Given the description of an element on the screen output the (x, y) to click on. 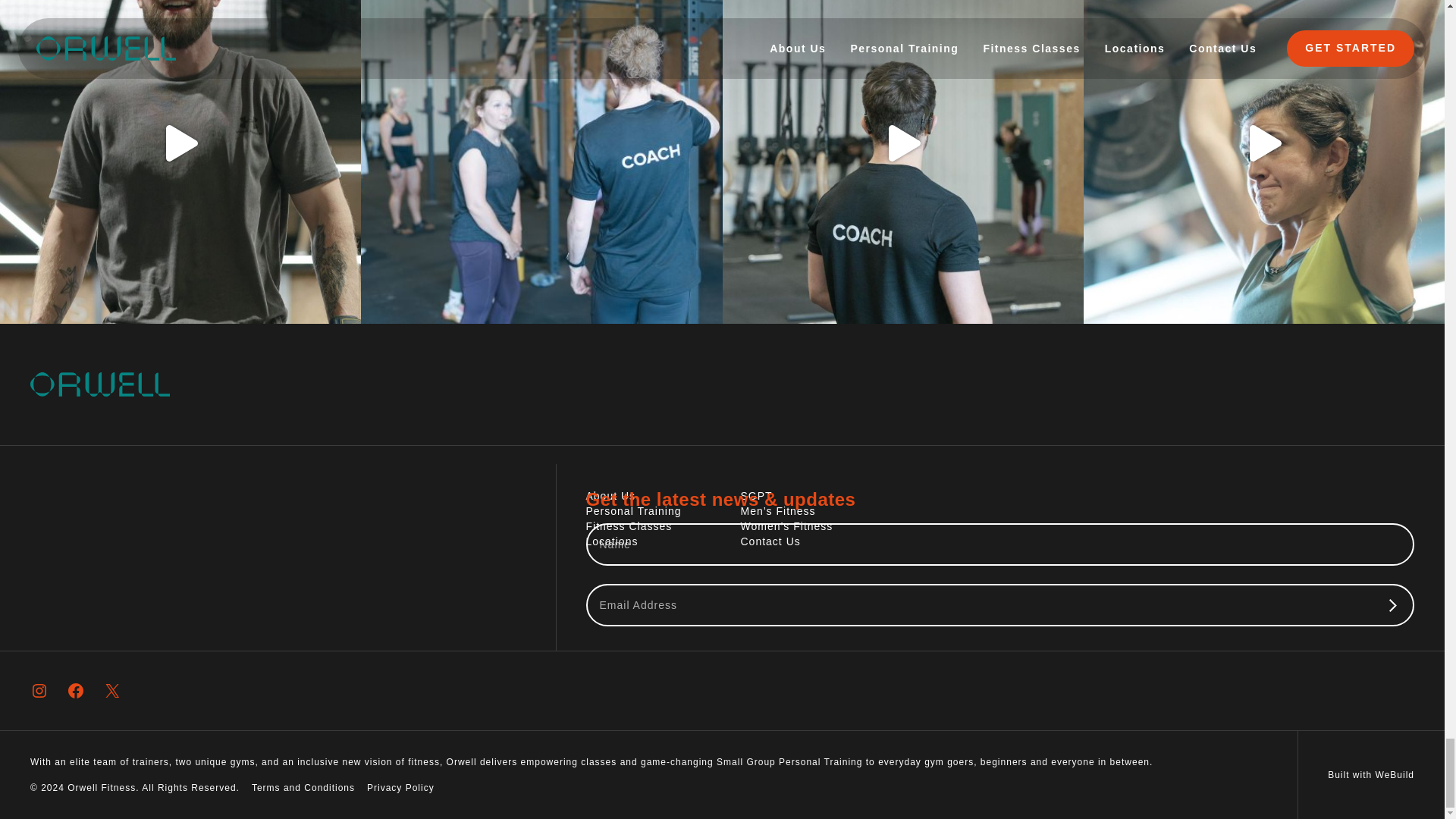
Submit (1392, 604)
